Given the description of an element on the screen output the (x, y) to click on. 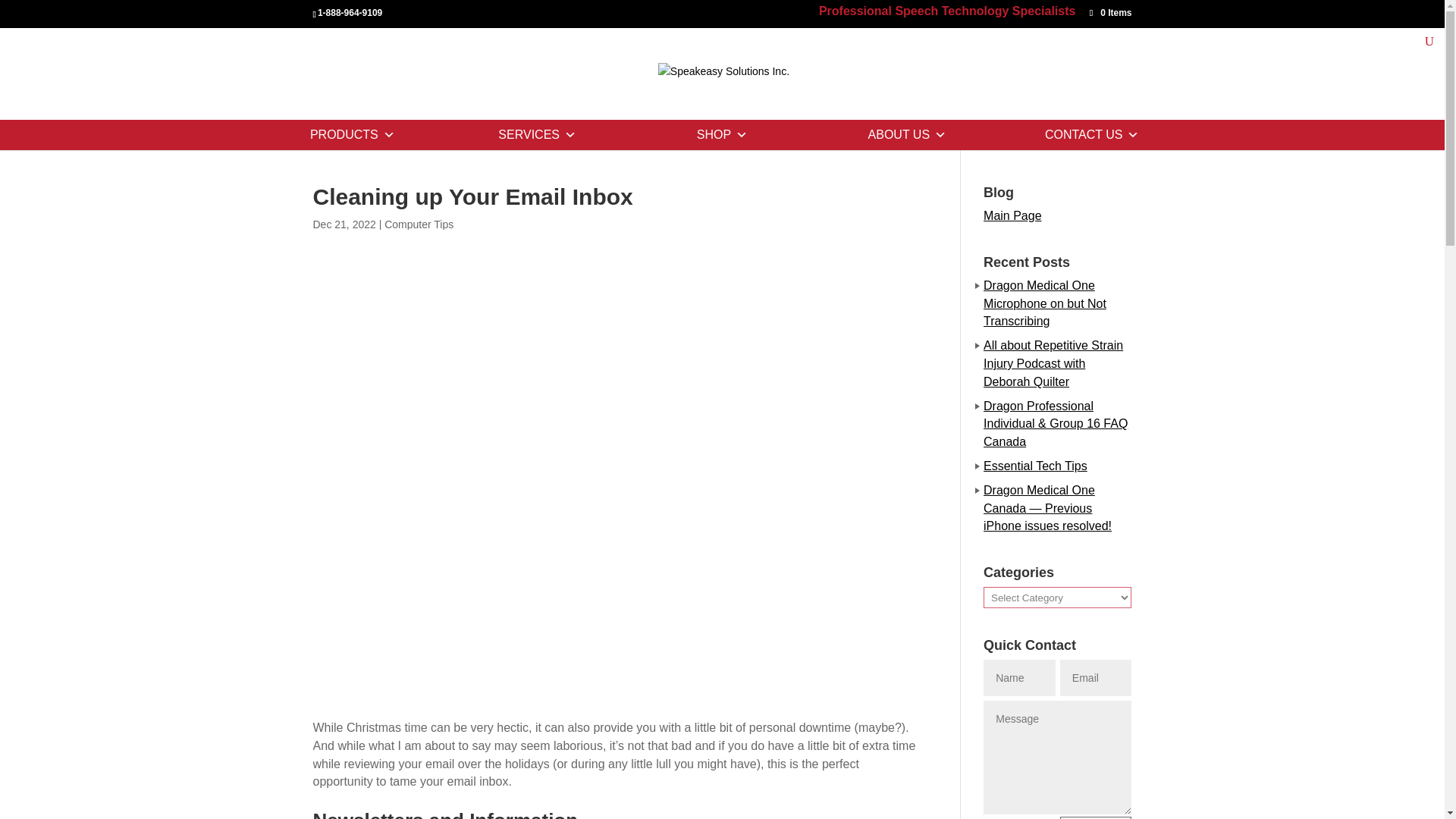
Services Available (537, 134)
Contact Speakeasy Solutions (1091, 134)
SERVICES (537, 134)
About Speakeasy Solutions (905, 134)
PRODUCTS (352, 134)
0 Items (1110, 12)
